Given the description of an element on the screen output the (x, y) to click on. 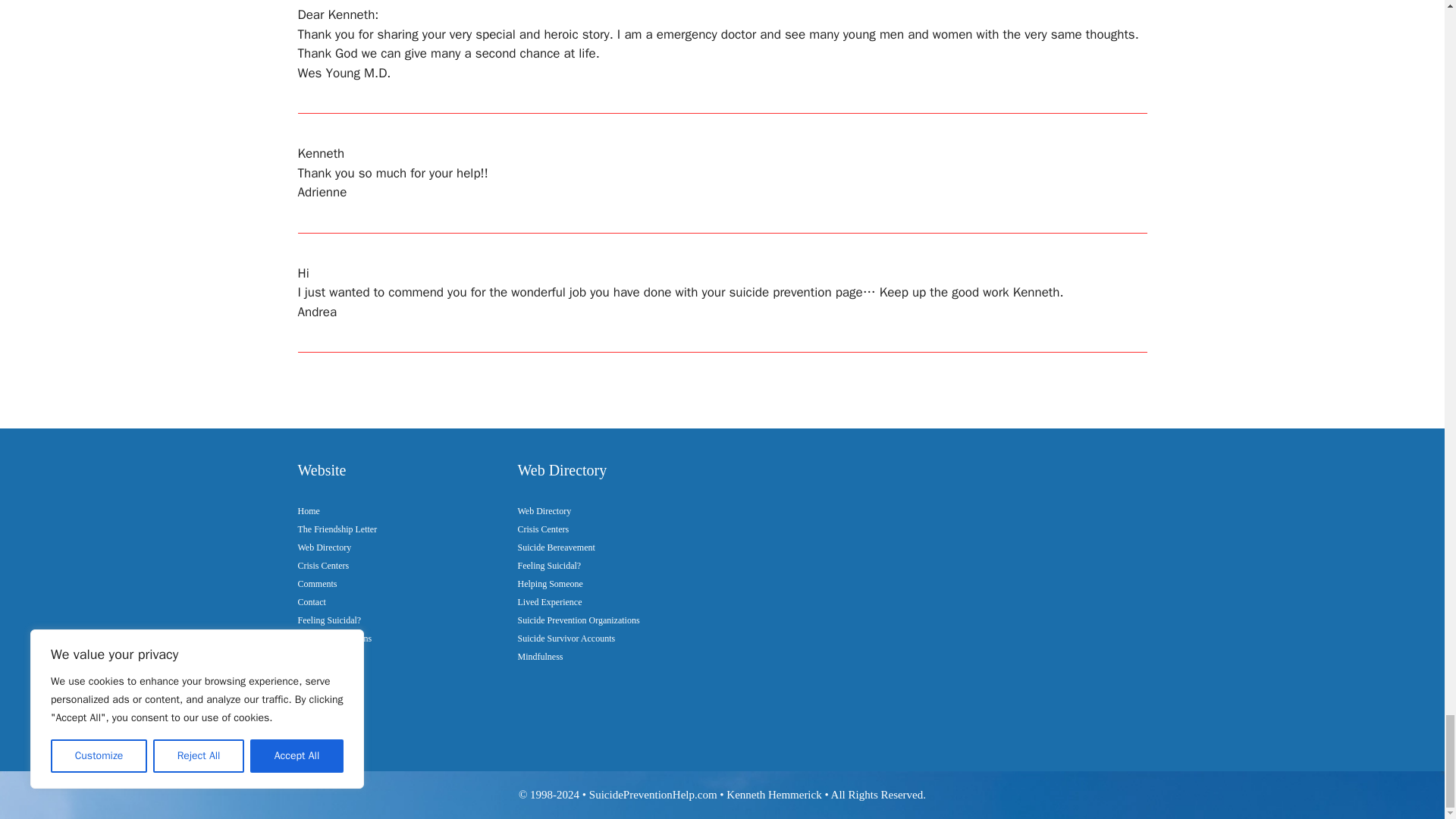
Web Directory (323, 547)
The Friendship Letter (337, 529)
25th Anniversary (328, 674)
Home (307, 511)
Feeling Suicidal? (329, 620)
Helping Someone (329, 656)
Comments (316, 583)
Contact (310, 602)
Crisis Centers (323, 565)
Helpful Suggestions (334, 638)
